Given the description of an element on the screen output the (x, y) to click on. 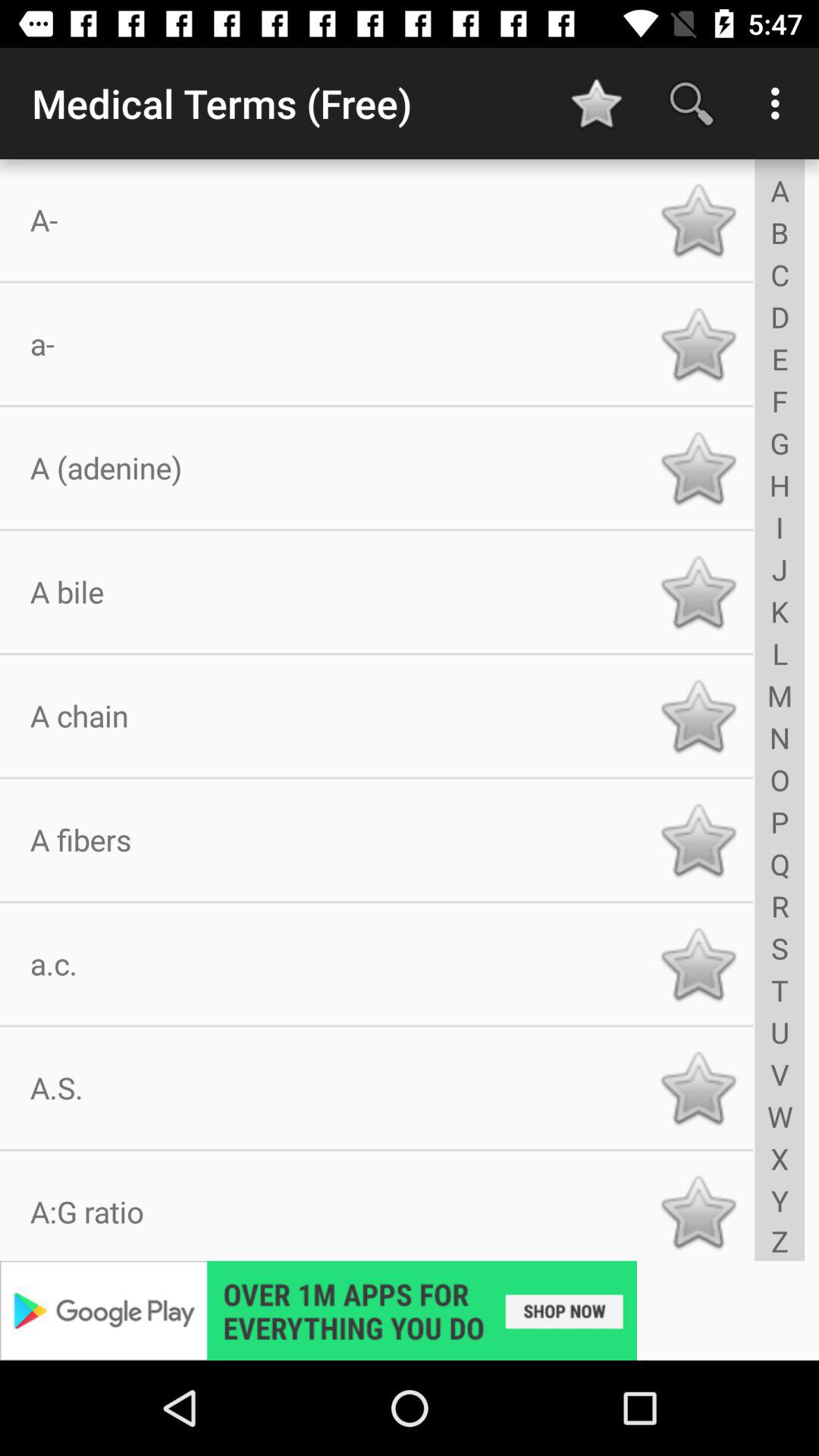
add to favorites (697, 344)
